Given the description of an element on the screen output the (x, y) to click on. 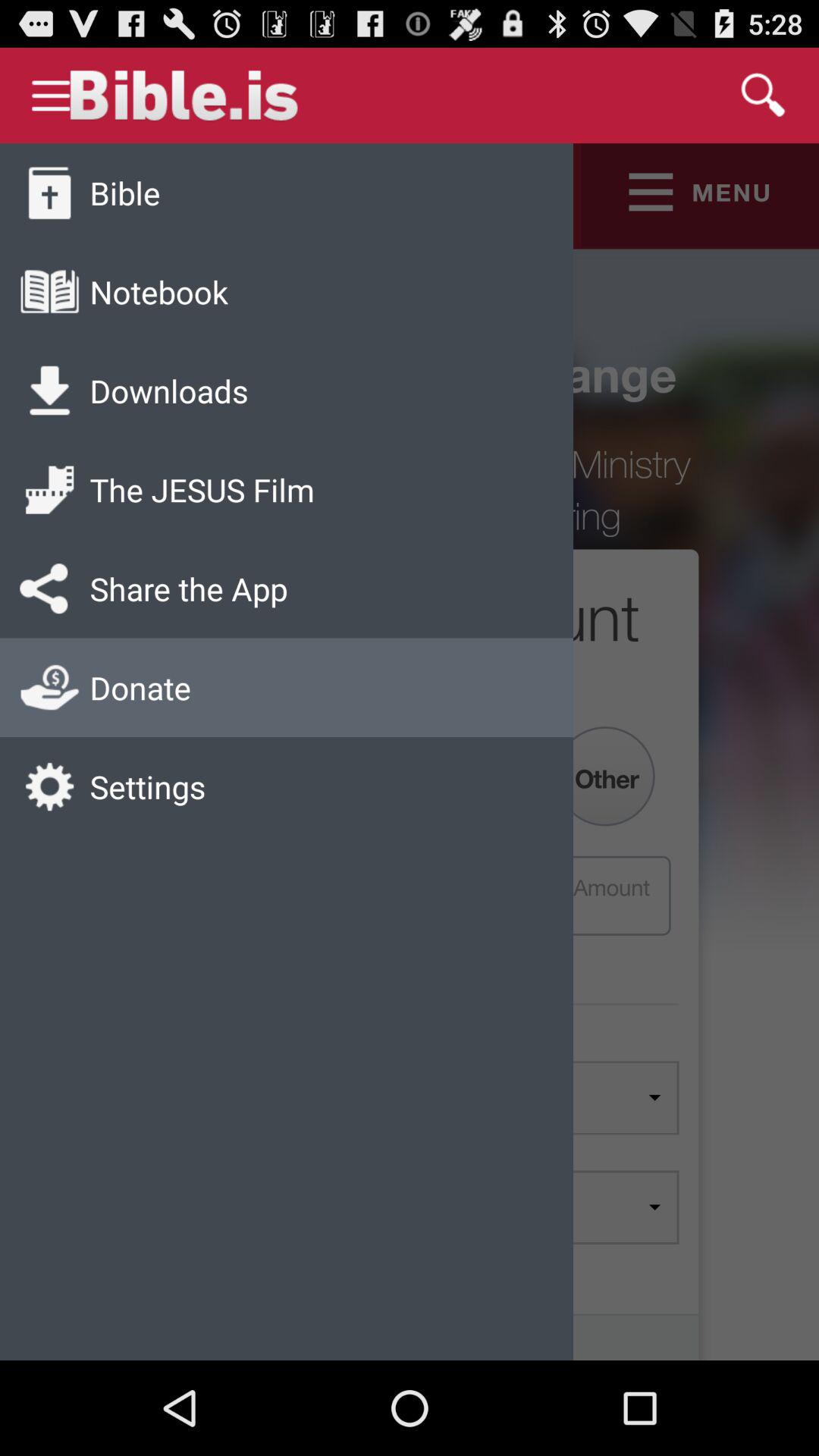
swipe until the settings icon (147, 786)
